Given the description of an element on the screen output the (x, y) to click on. 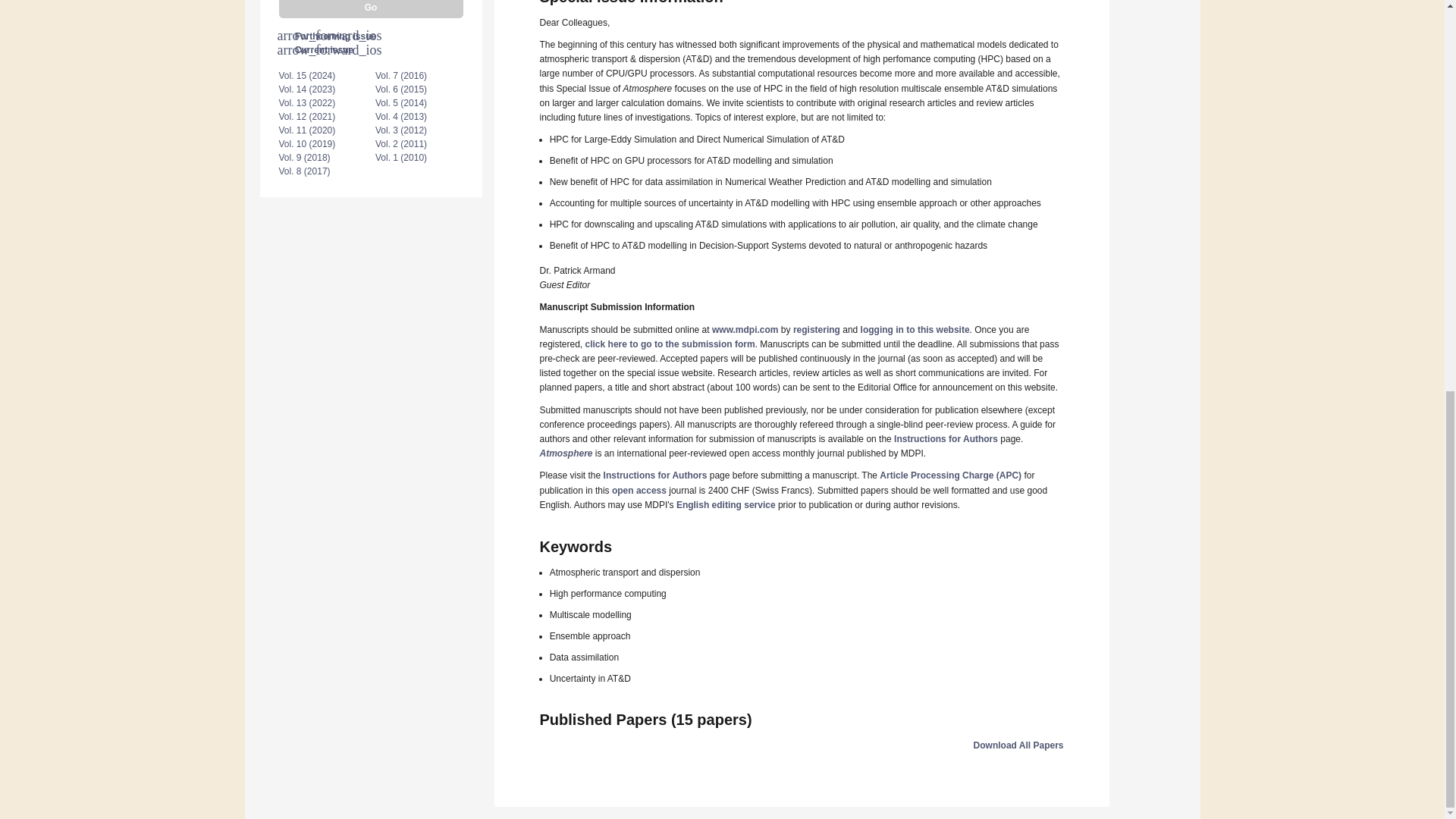
Go (371, 9)
